Given the description of an element on the screen output the (x, y) to click on. 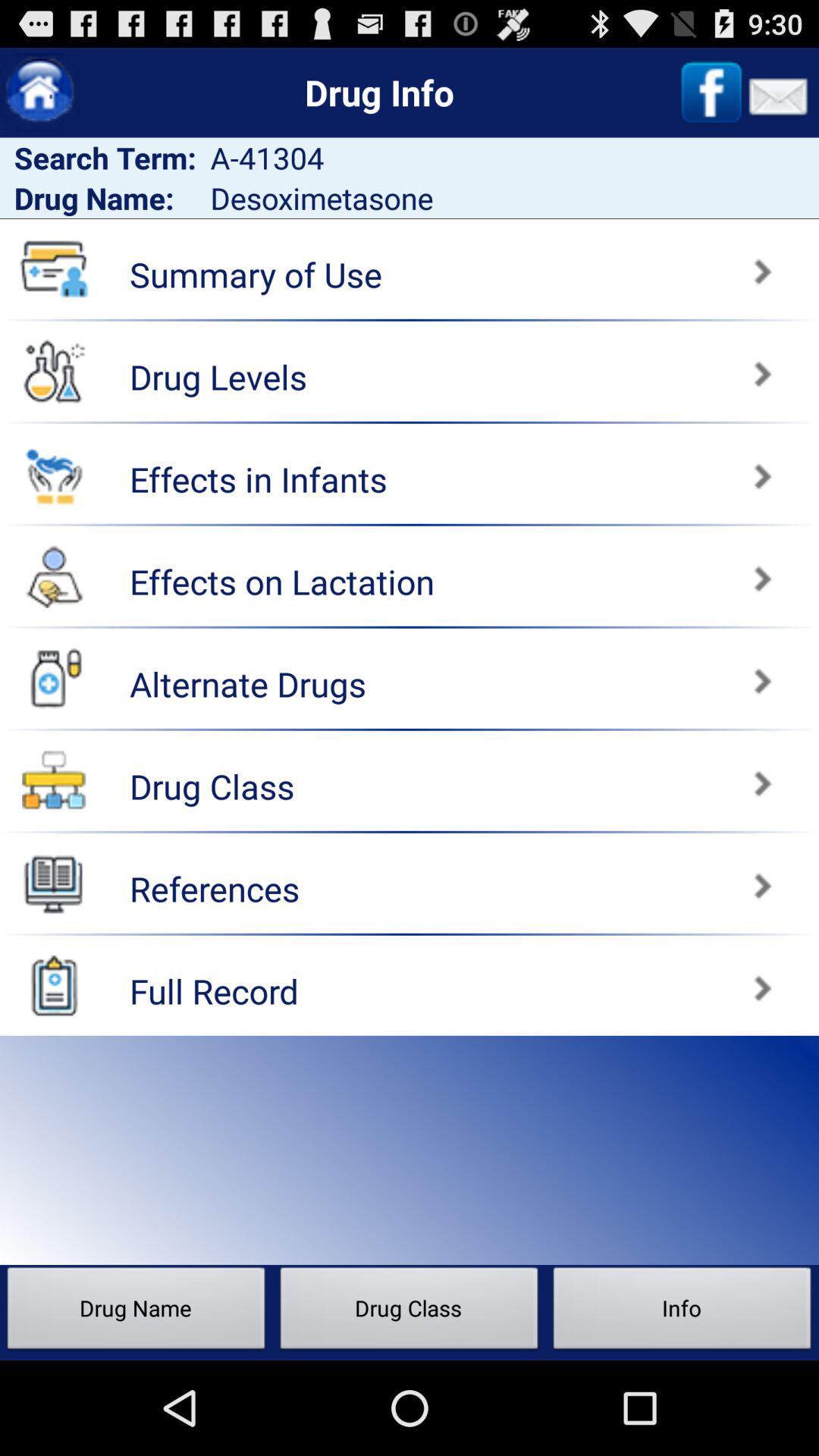
view effects in infants (617, 468)
